Given the description of an element on the screen output the (x, y) to click on. 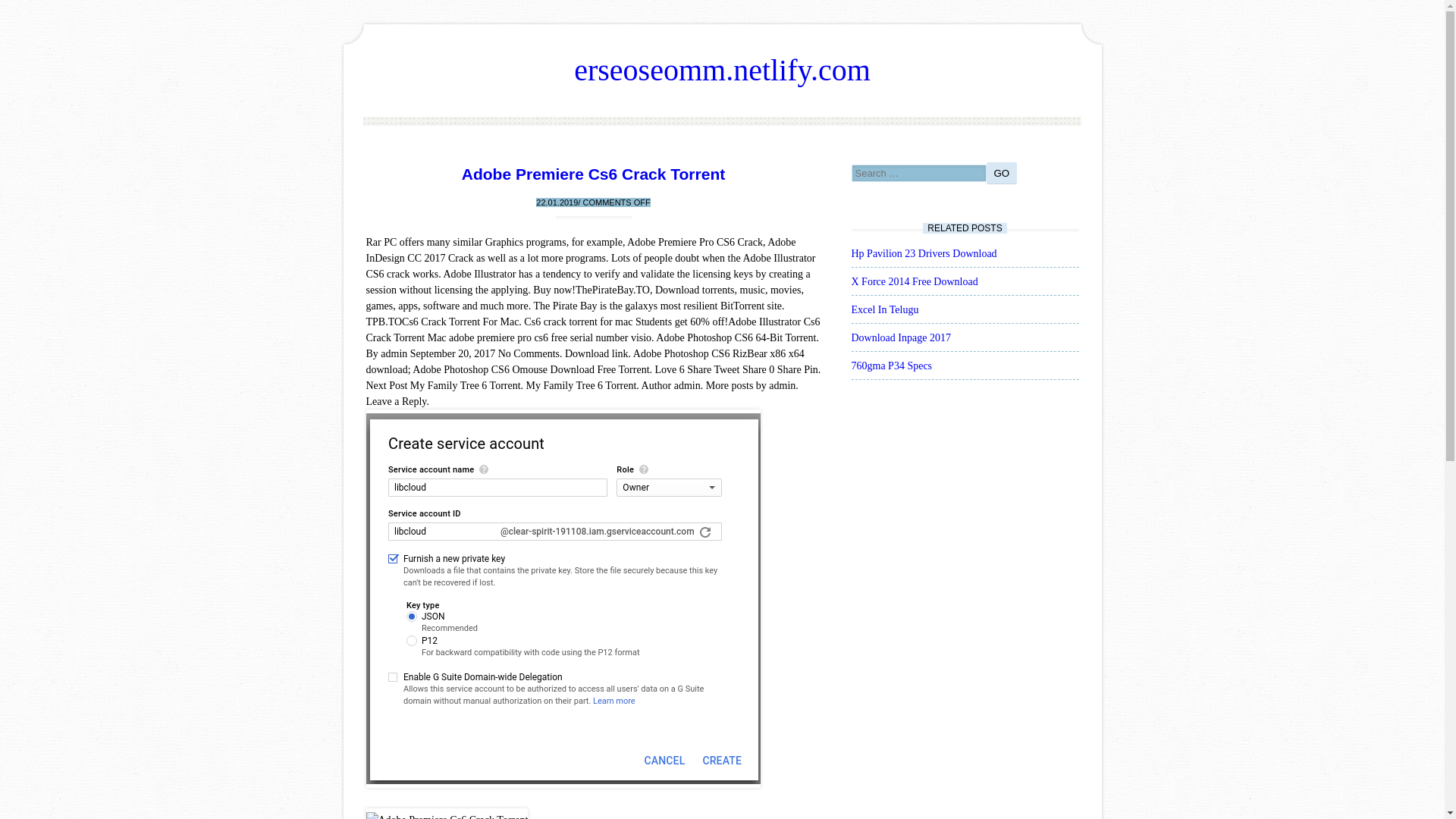
GO (1000, 173)
Adobe Premiere Cs6 Crack Torrent (593, 173)
Excel In Telugu (884, 309)
Hp Pavilion 23 Drivers Download (922, 253)
Download Inpage 2017 (900, 337)
GO (1000, 173)
erseoseomm.netlify.com (721, 69)
Adobe Premiere Cs6 Crack Torrent (446, 813)
760gma P34 Specs (890, 365)
X Force 2014 Free Download (913, 281)
